Given the description of an element on the screen output the (x, y) to click on. 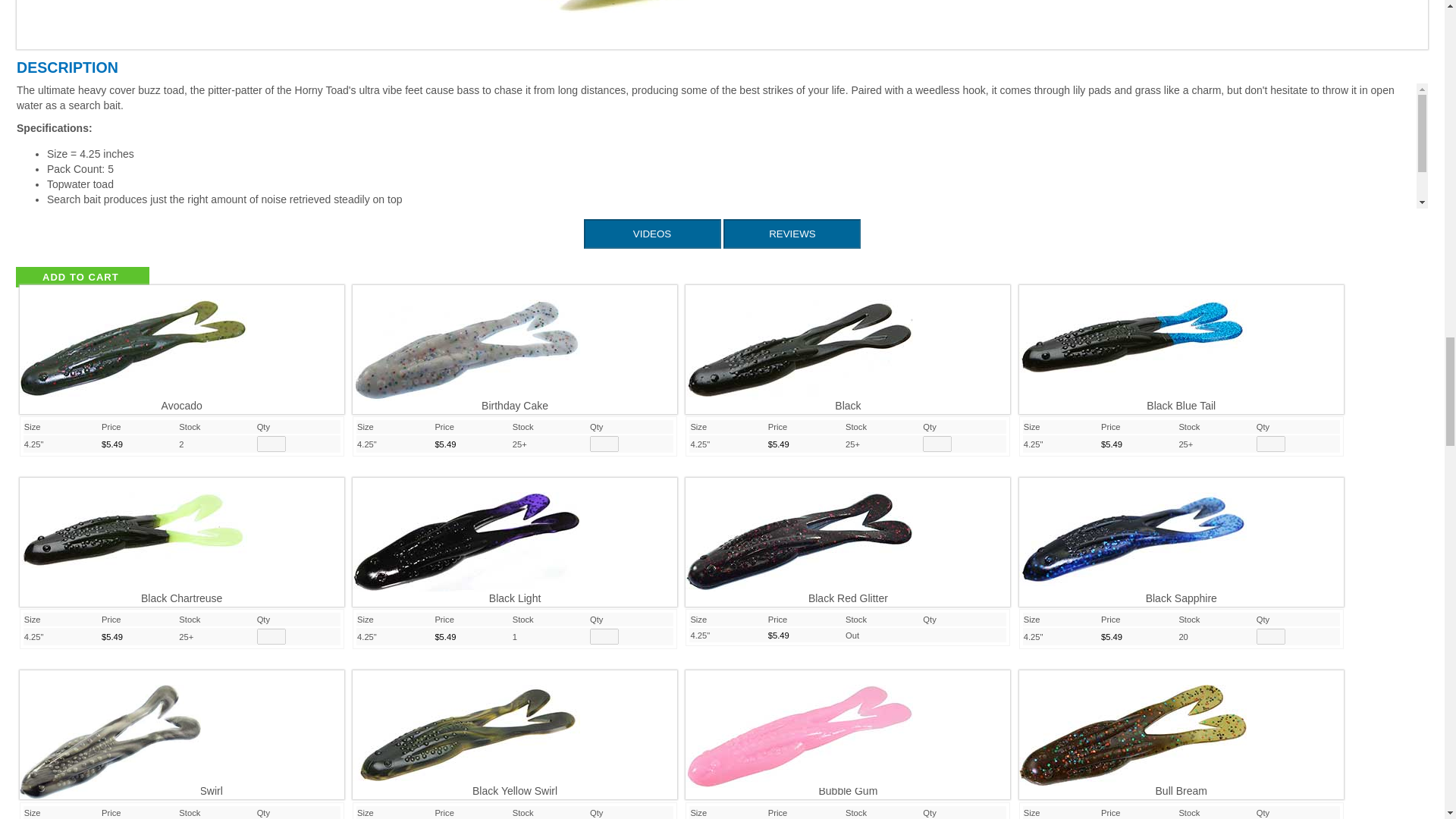
REVIEWS (791, 233)
VIDEOS (651, 233)
view larger (1132, 531)
view larger (133, 340)
view larger (465, 534)
VIDEOS (651, 233)
view larger (798, 342)
REVIEWS (791, 233)
view larger (798, 534)
view larger (110, 734)
view larger (1132, 329)
view larger (465, 343)
view larger (133, 522)
